Given the description of an element on the screen output the (x, y) to click on. 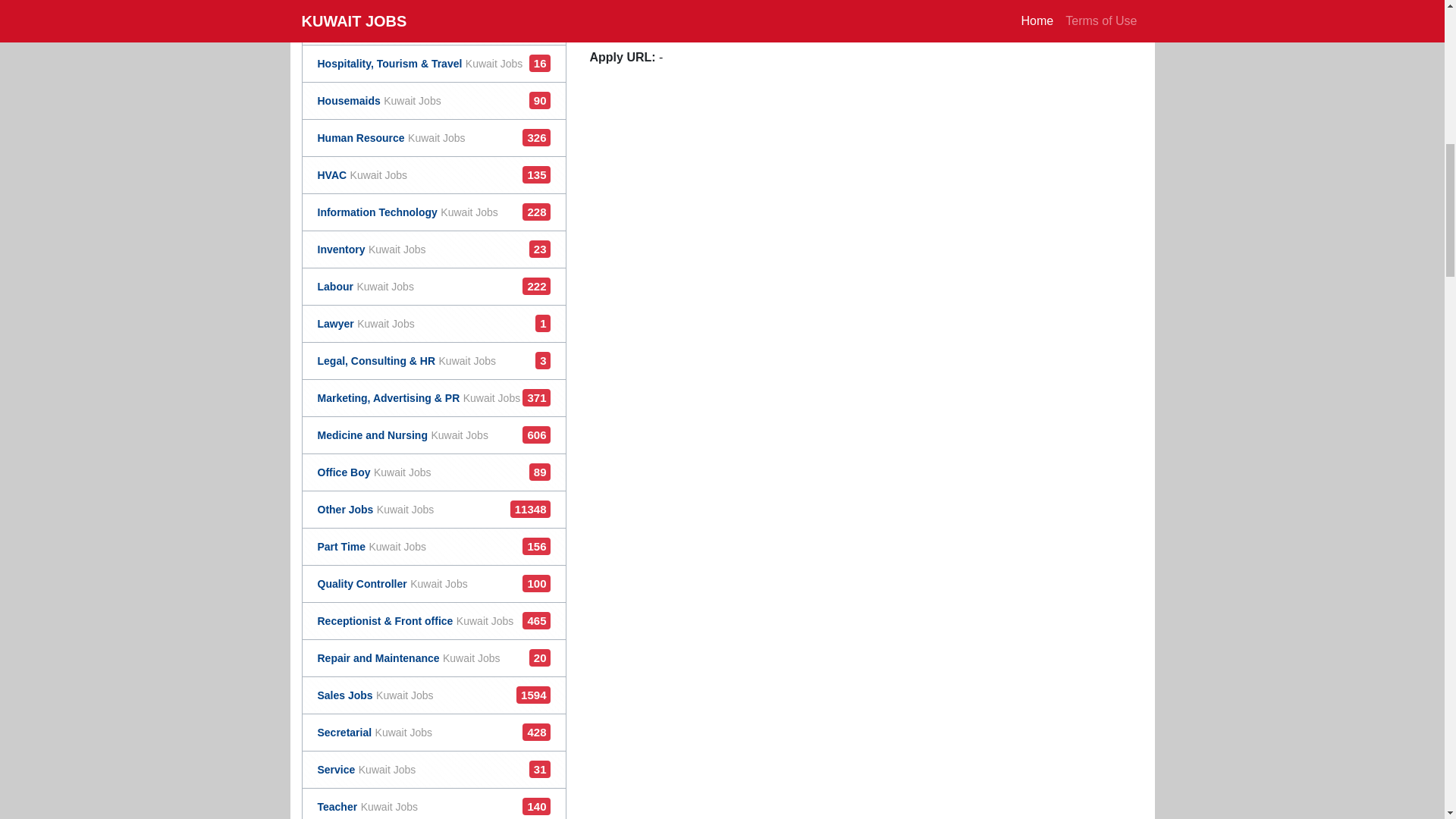
Advertisement (402, 434)
